Given the description of an element on the screen output the (x, y) to click on. 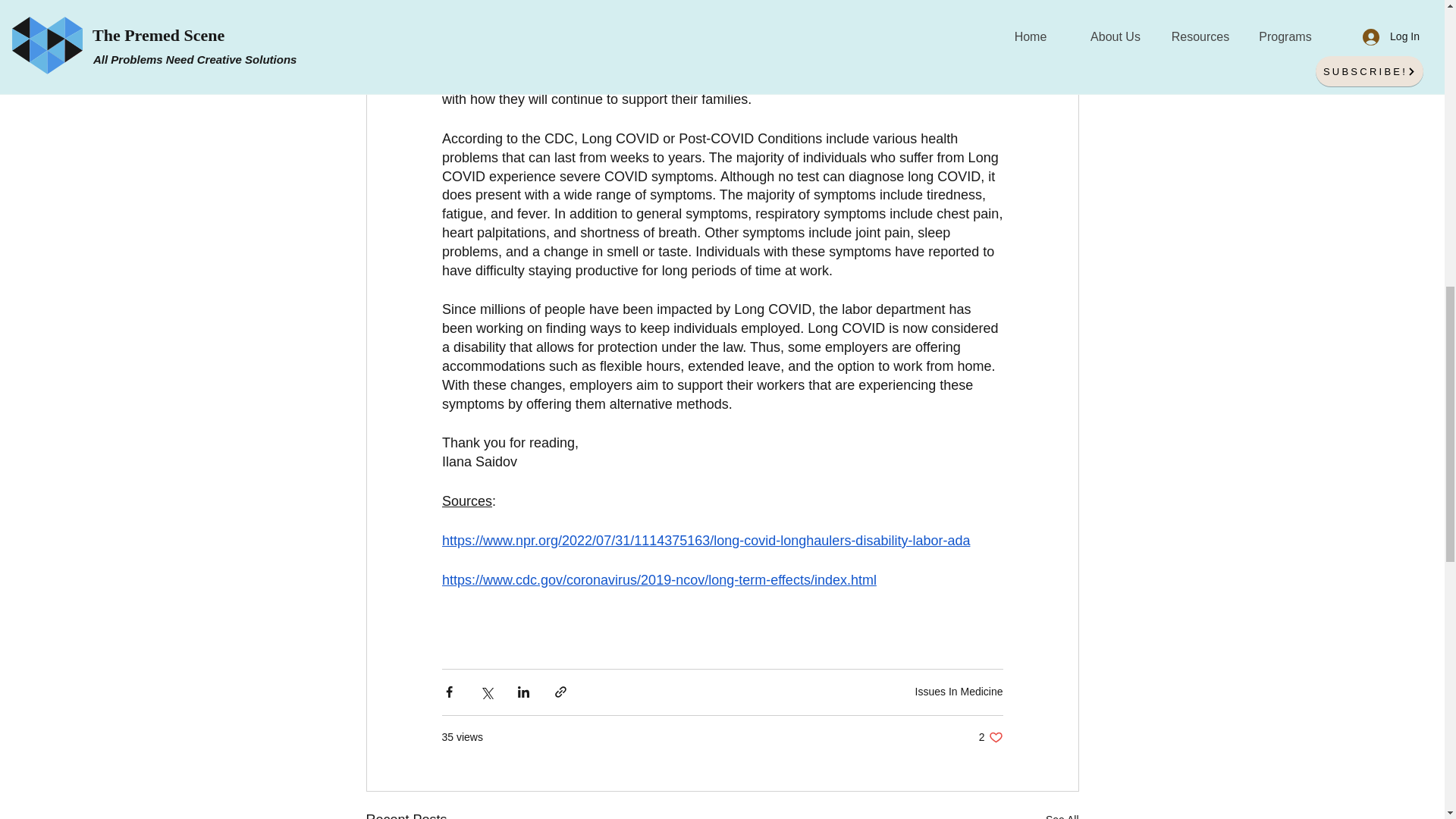
Issues In Medicine (959, 691)
See All (990, 737)
